Given the description of an element on the screen output the (x, y) to click on. 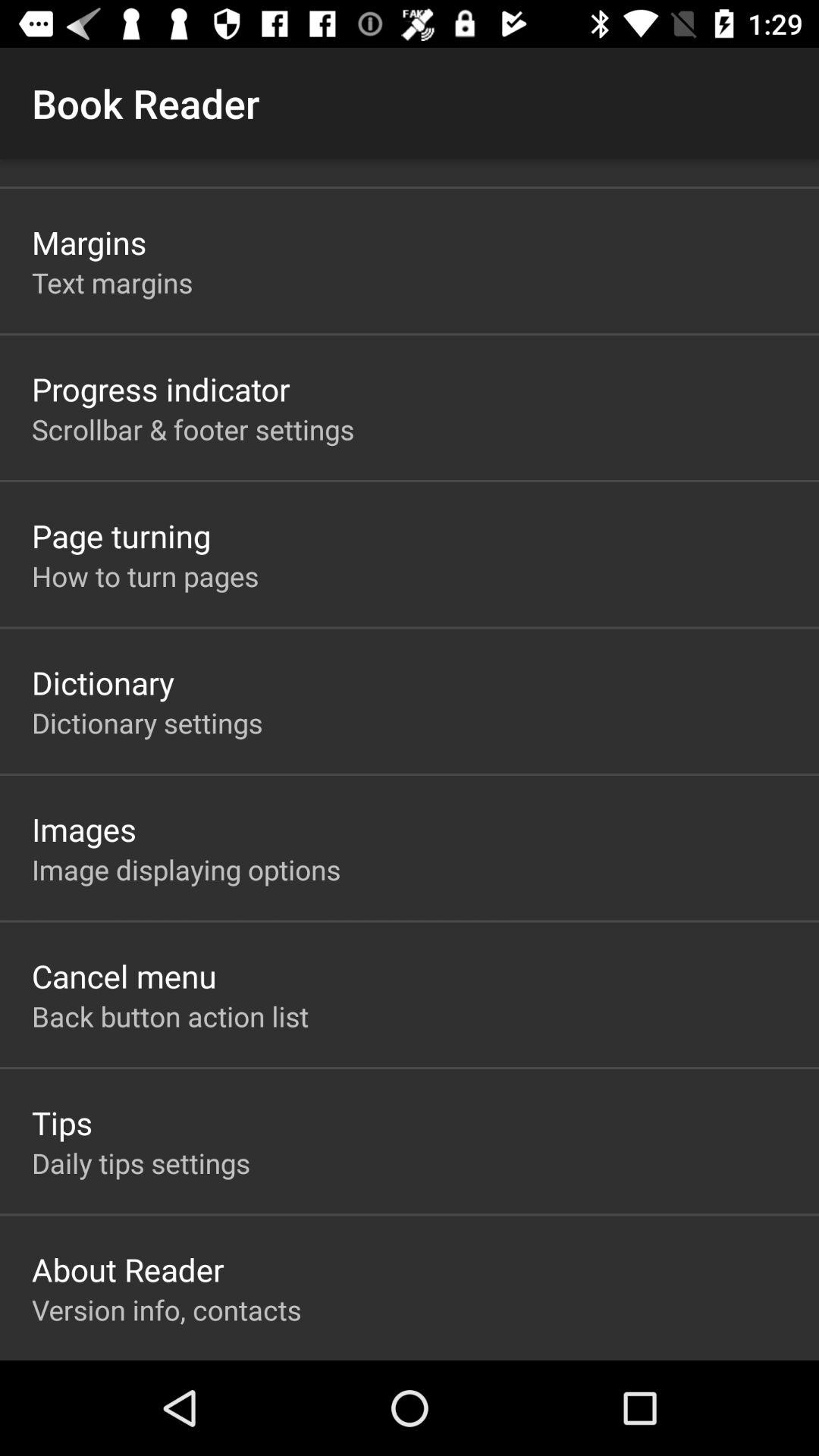
jump until dictionary settings app (146, 722)
